Given the description of an element on the screen output the (x, y) to click on. 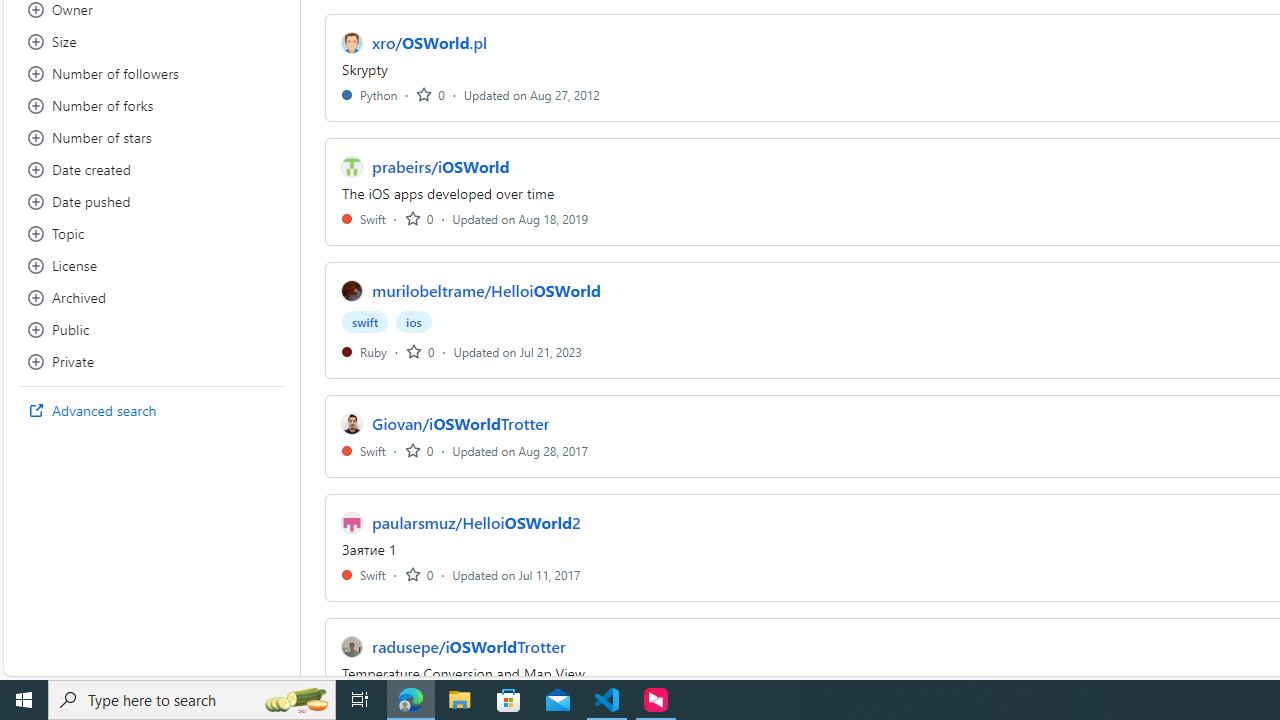
0 (418, 574)
Updated on Jul 21, 2023 (517, 351)
Advanced search (152, 410)
radusepe/iOSWorldTrotter (468, 646)
murilobeltrame/HelloiOSWorld (486, 291)
Swift (363, 574)
Updated on Aug 27, 2012 (531, 93)
0 stars (418, 574)
